Given the description of an element on the screen output the (x, y) to click on. 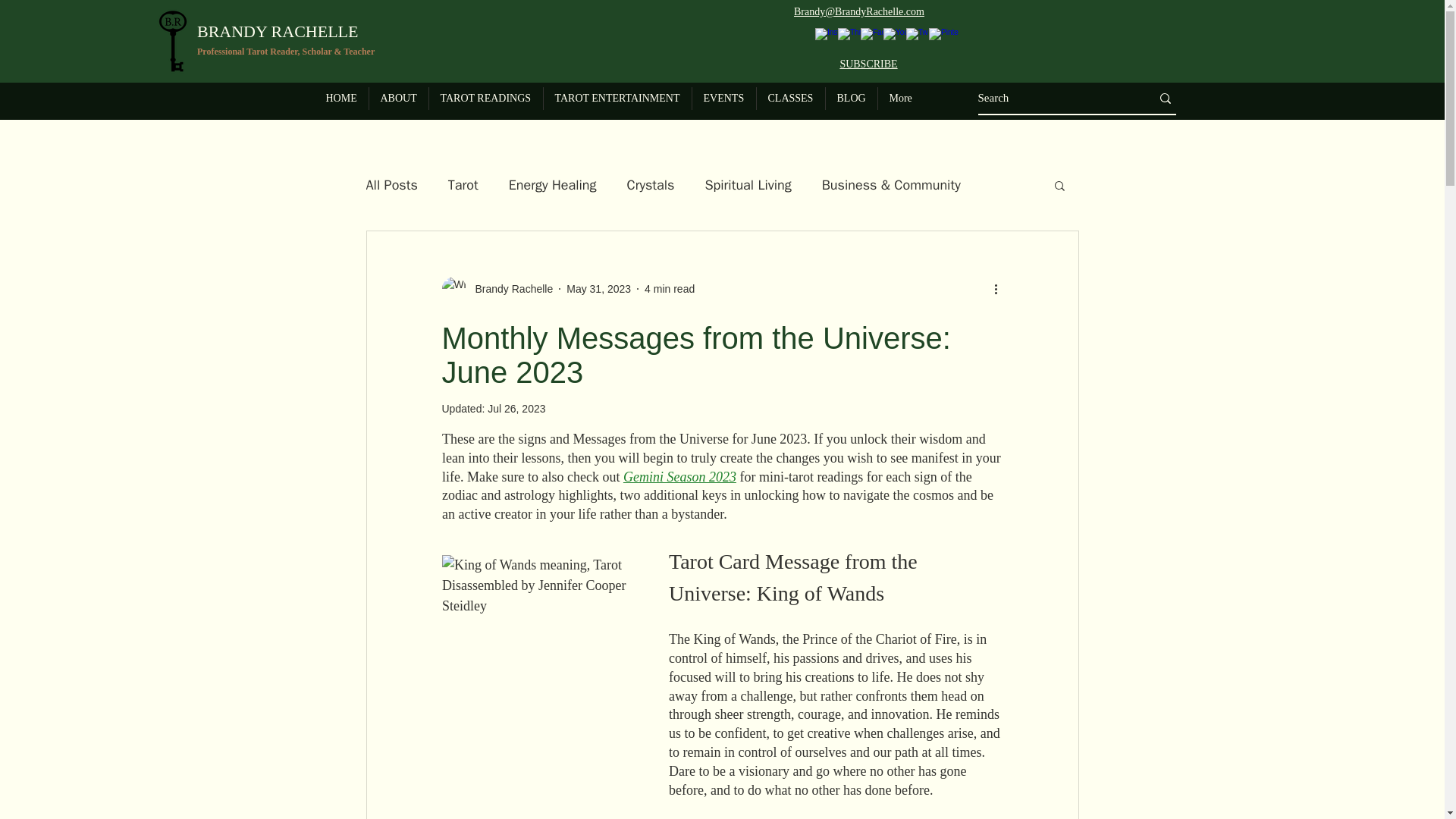
SUBSCRIBE (868, 63)
HOME (341, 97)
Gemini Season 2023 (679, 476)
May 31, 2023 (598, 287)
TAROT READINGS (486, 97)
Energy Healing (552, 185)
Brandy Rachelle (497, 288)
BLOG (850, 97)
TAROT ENTERTAINMENT (616, 97)
Spiritual Living (747, 185)
